Given the description of an element on the screen output the (x, y) to click on. 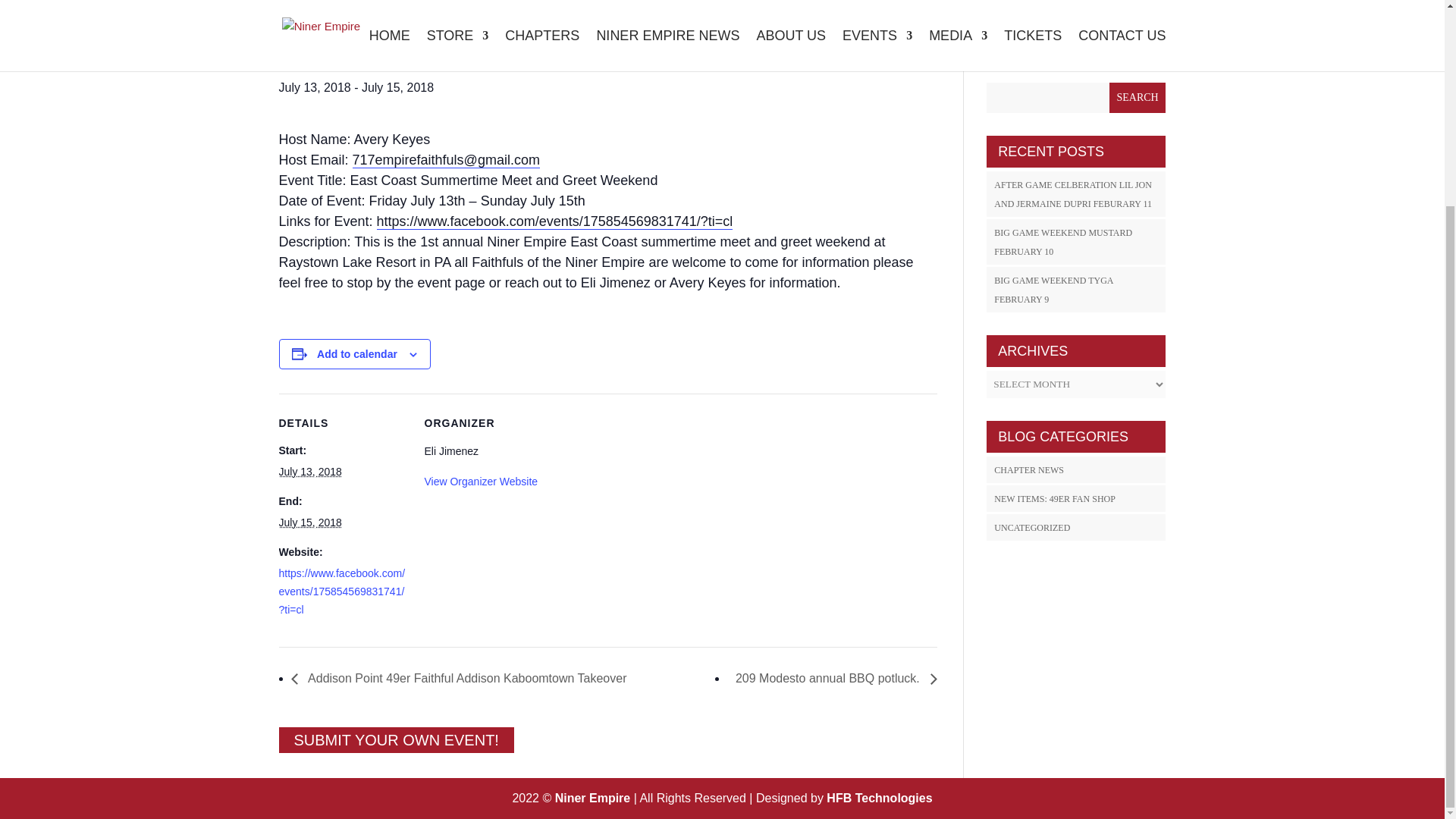
2018-07-15 (1030, 27)
BIG GAME WEEKEND TYGA FEBRUARY 9 (310, 522)
Addison Point 49er Faithful Addison Kaboomtown Takeover (1053, 289)
Search (462, 677)
209 Modesto annual BBQ potluck. (1137, 97)
CHAPTER NEWS (831, 677)
2018-07-13 (1029, 470)
Search (310, 471)
